Given the description of an element on the screen output the (x, y) to click on. 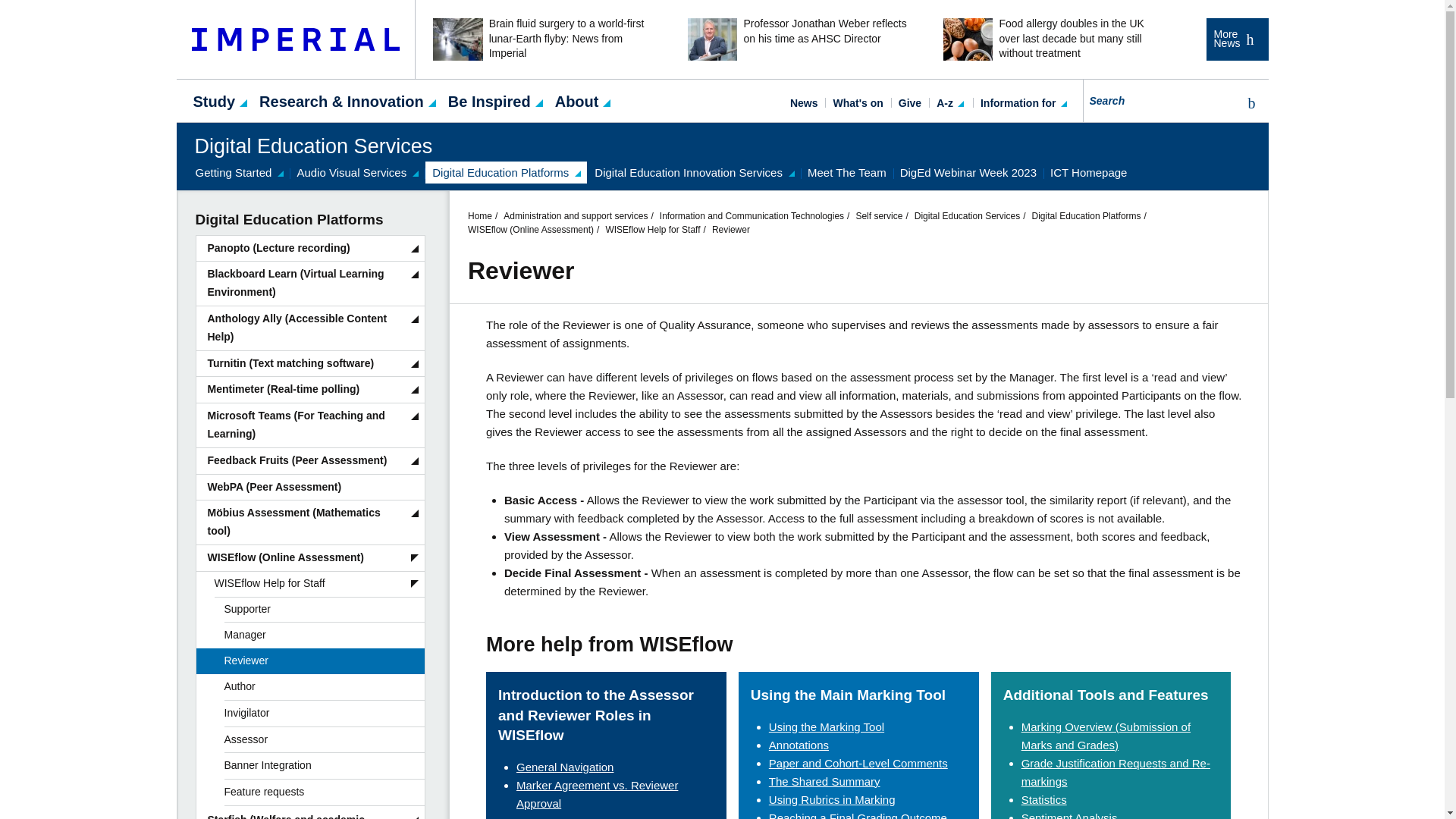
Imperial College London Home (295, 39)
Study (213, 100)
Search for... (1161, 100)
Search (1249, 102)
Imperial College London (295, 39)
More News (1236, 39)
